Given the description of an element on the screen output the (x, y) to click on. 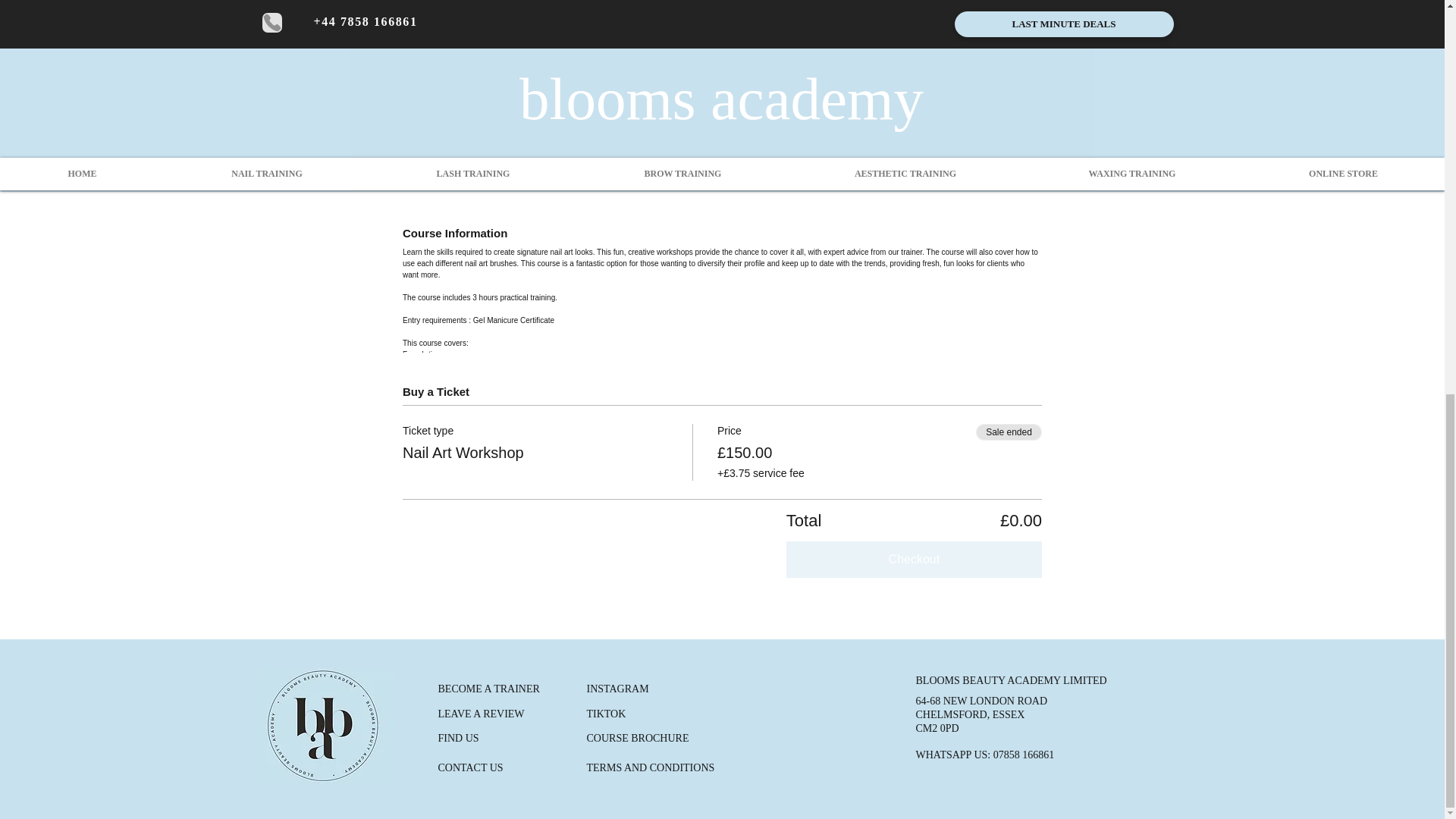
INSTAGRAM (617, 688)
Checkout (914, 559)
BECOME A TRAINER (489, 688)
